Given the description of an element on the screen output the (x, y) to click on. 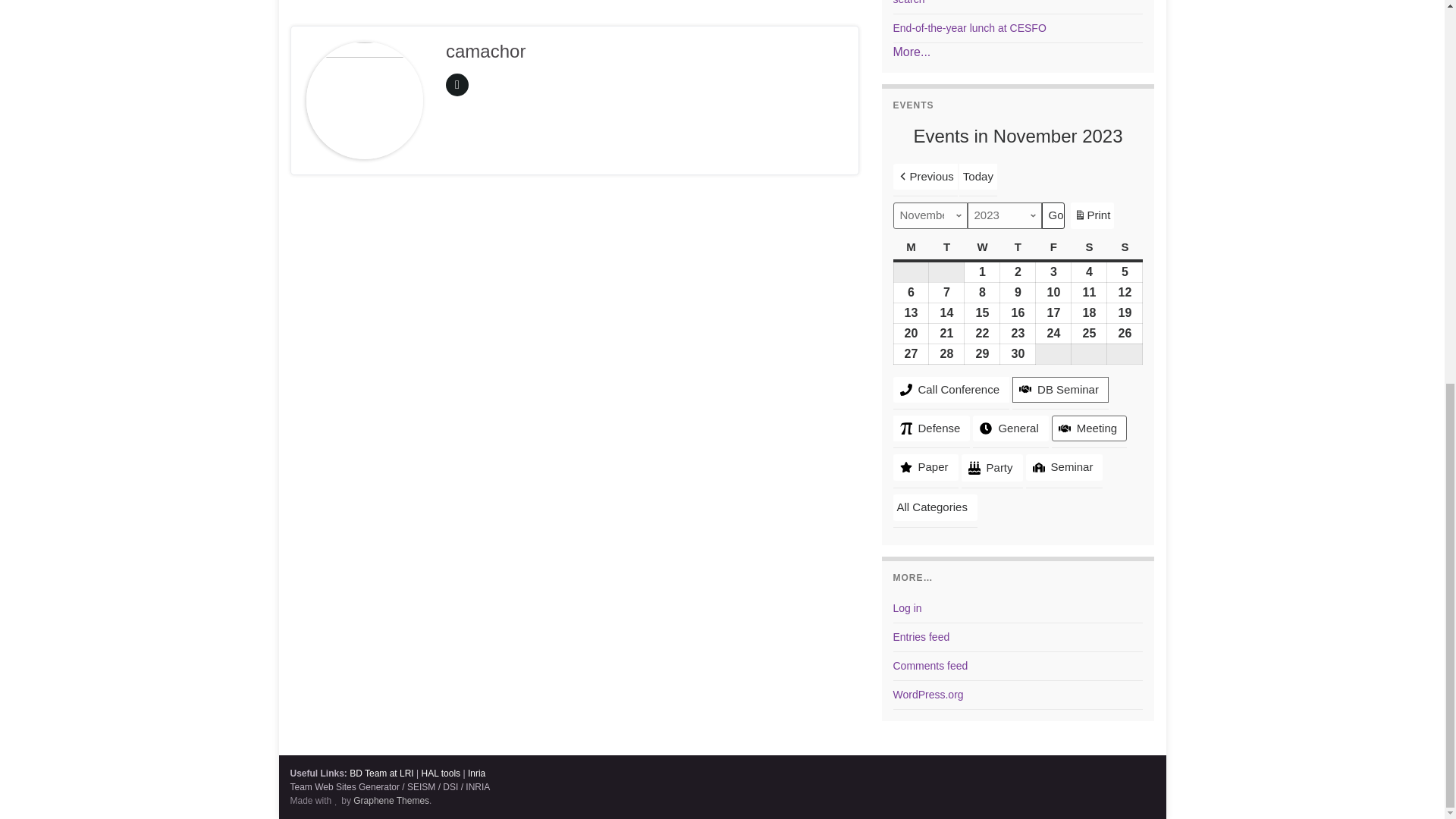
Previous (1092, 215)
End-of-the-year lunch at CESFO (925, 176)
Call Conference (969, 28)
More... (951, 389)
Today (912, 51)
